Given the description of an element on the screen output the (x, y) to click on. 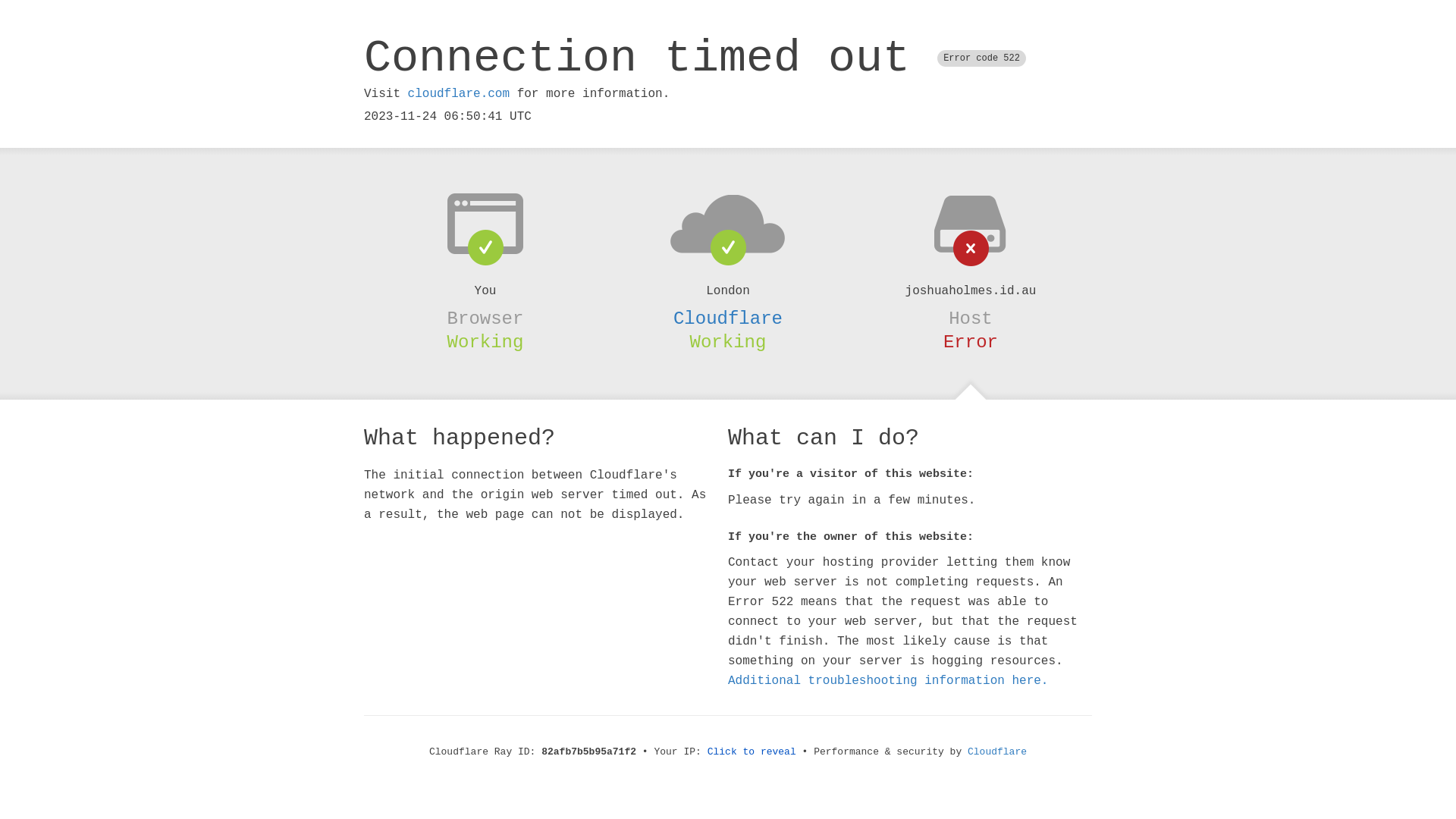
Click to reveal Element type: text (751, 751)
cloudflare.com Element type: text (458, 93)
Additional troubleshooting information here. Element type: text (888, 680)
Cloudflare Element type: text (727, 318)
Cloudflare Element type: text (996, 751)
